Given the description of an element on the screen output the (x, y) to click on. 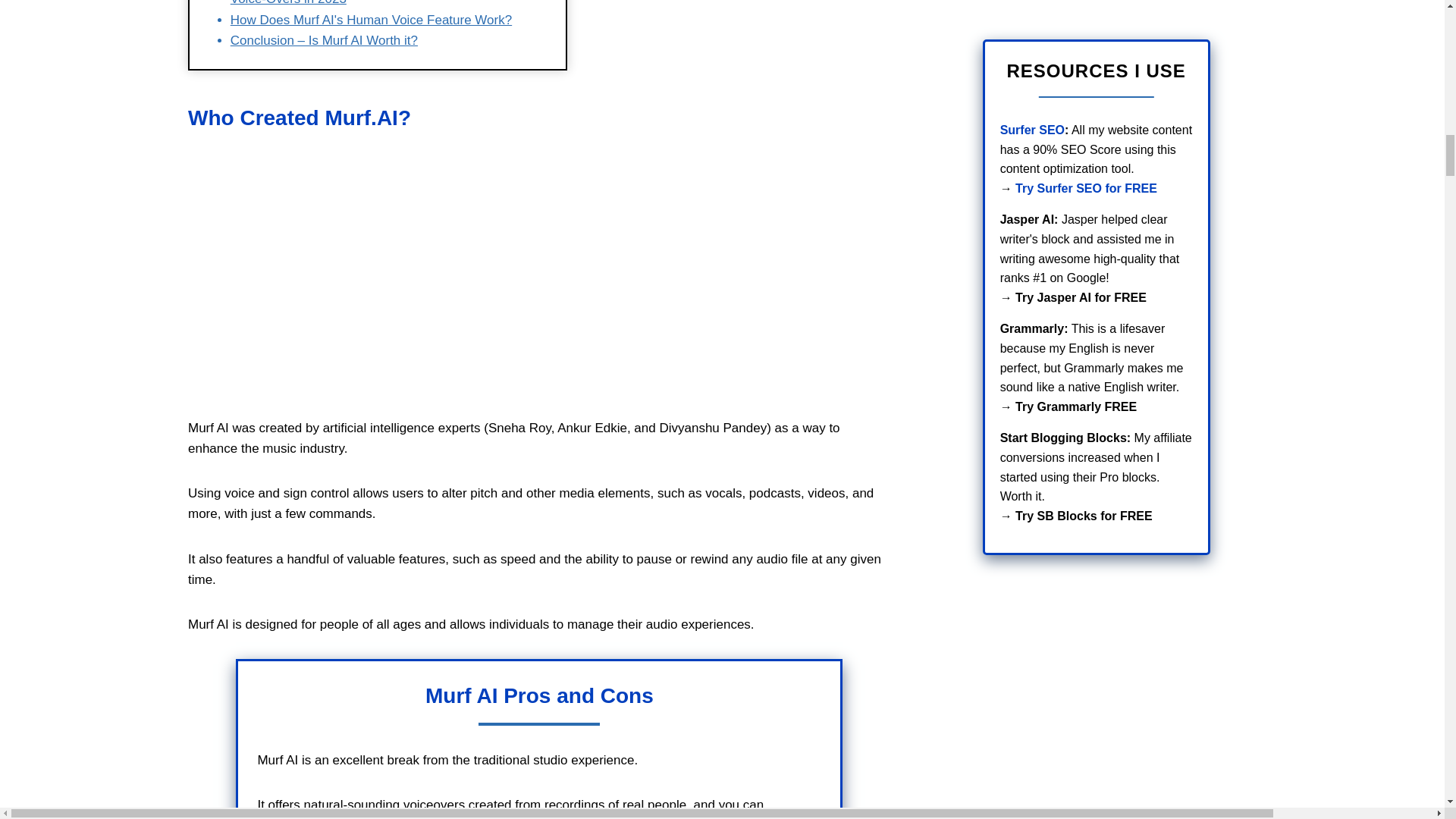
How Does Murf AI's Human Voice Feature Work? (371, 20)
